Given the description of an element on the screen output the (x, y) to click on. 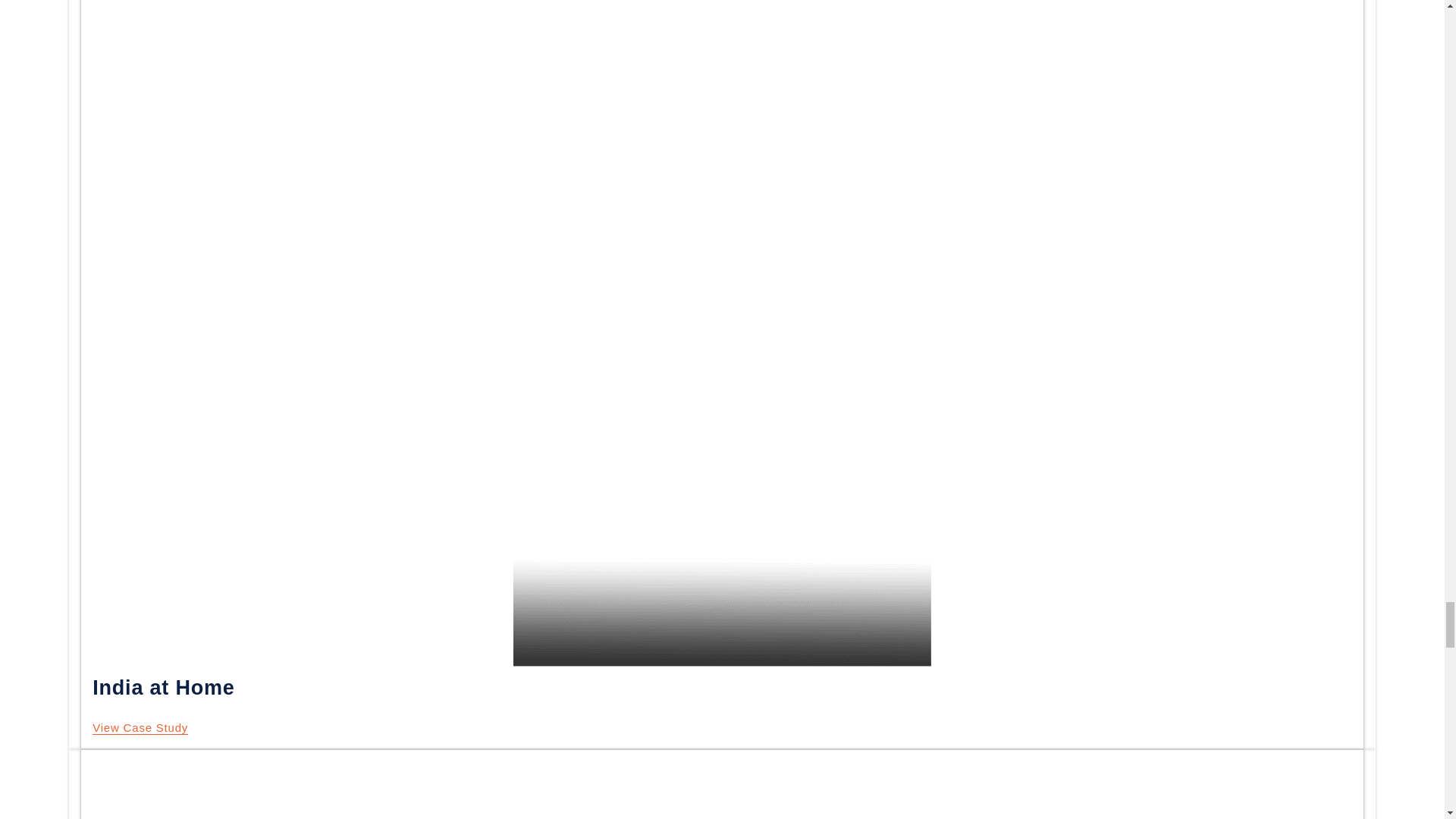
India at Home (140, 727)
